Given the description of an element on the screen output the (x, y) to click on. 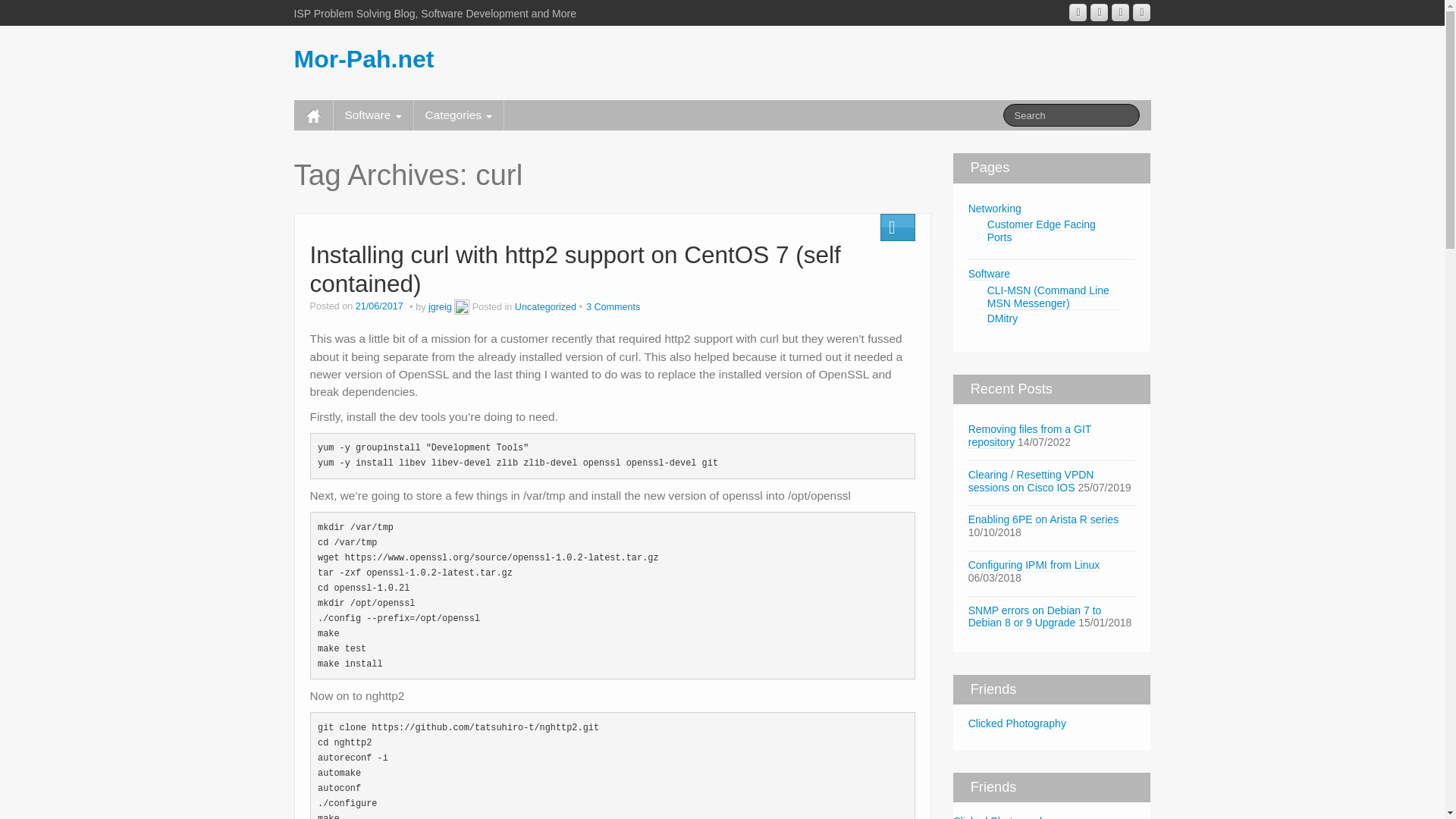
3 Comments (613, 307)
Software (989, 273)
Mor-Pah.net Twitter (1141, 12)
Mor-Pah.net (363, 58)
Mor-Pah.net Vimeo (1120, 12)
Customer Edge Facing Ports (1041, 231)
Software (373, 114)
Clicked Photography (1016, 723)
SNMP errors on Debian 7 to Debian 8 or 9 Upgrade (1035, 616)
Removing files from a GIT repository (1030, 435)
DMitry (1002, 318)
Mor-Pah.net Facebook (1099, 12)
View all posts by jgreig (439, 307)
Enabling 6PE on Arista R series (1043, 519)
Configuring IPMI from Linux (1034, 564)
